Given the description of an element on the screen output the (x, y) to click on. 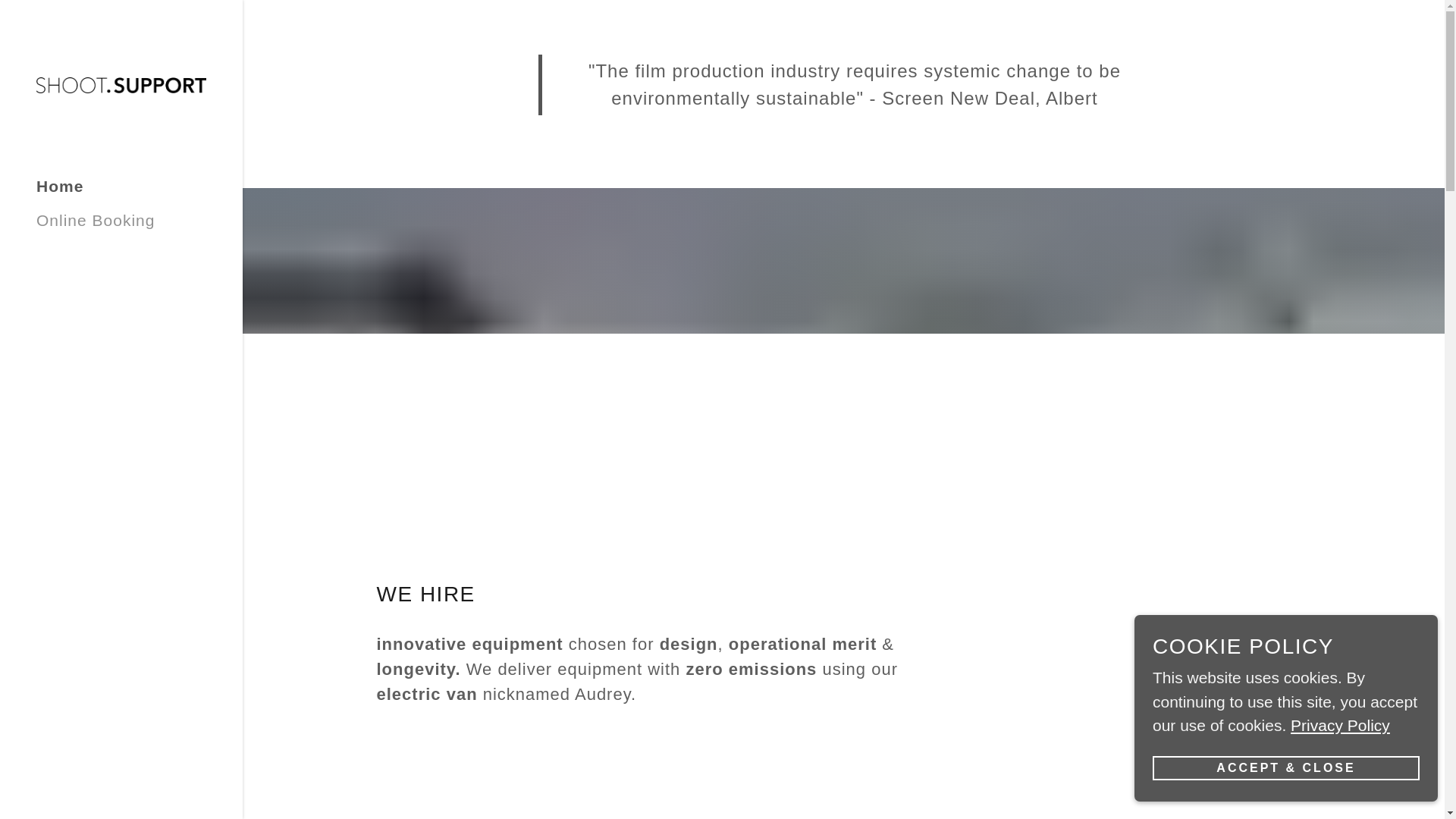
Privacy Policy (1340, 724)
Online Booking (95, 220)
ShootSupport (121, 83)
Home (59, 185)
